Given the description of an element on the screen output the (x, y) to click on. 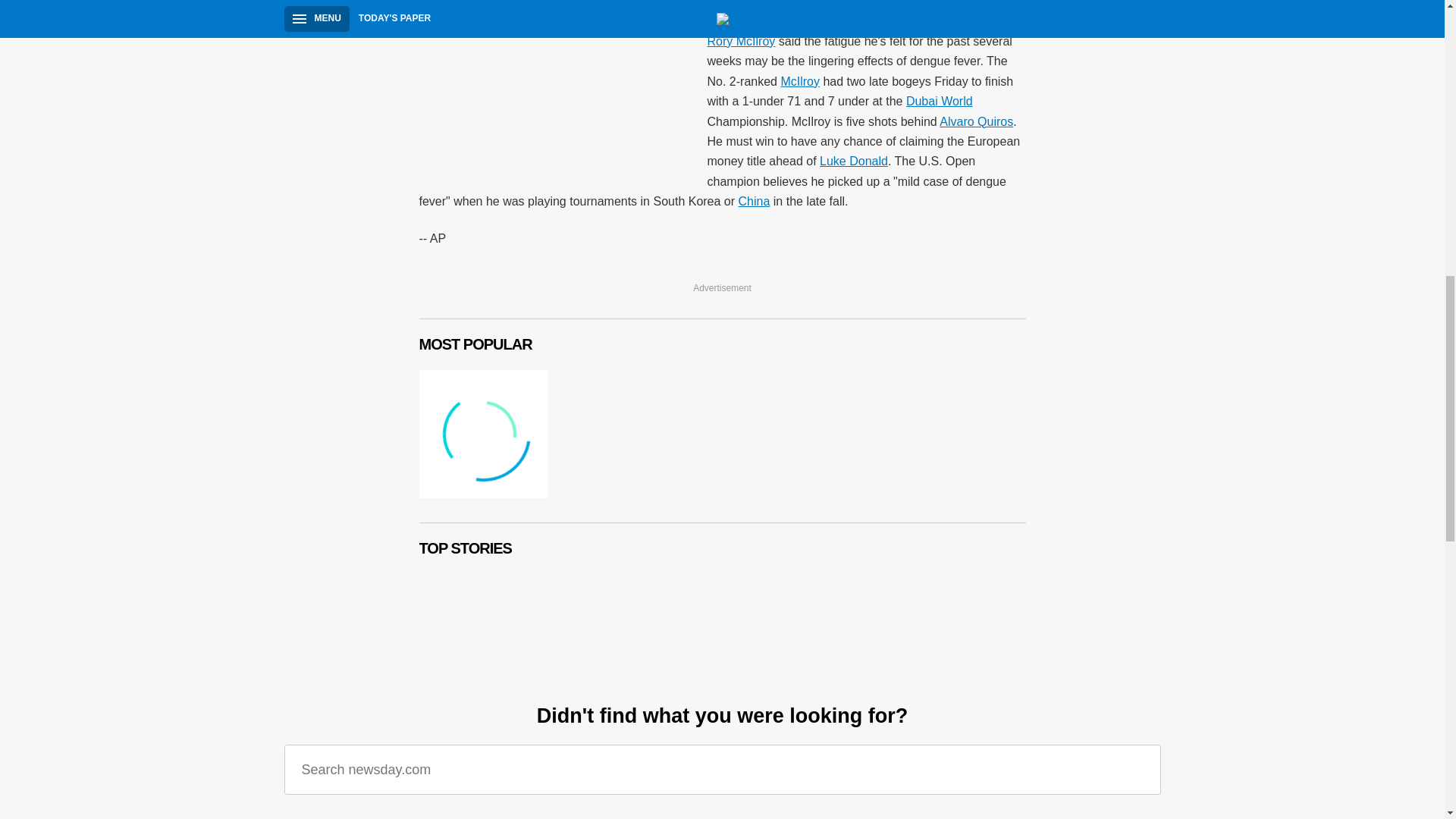
Luke Donald (853, 160)
Alvaro Quiros (976, 121)
Dubai World (938, 101)
Rory McIlroy (740, 41)
China (754, 201)
McIlroy (799, 81)
